Given the description of an element on the screen output the (x, y) to click on. 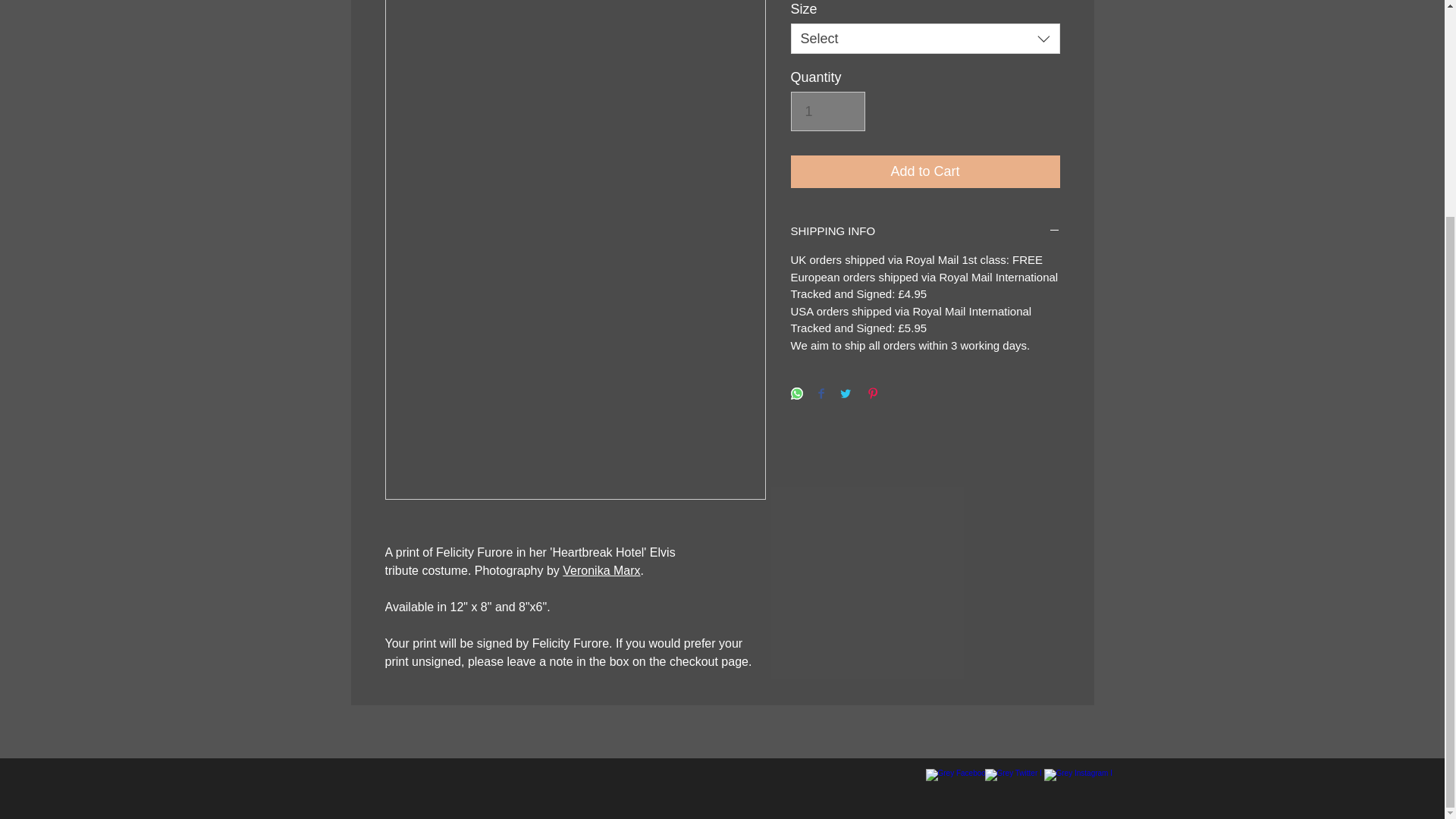
Select (924, 38)
Veronika Marx (601, 570)
1 (827, 111)
SHIPPING INFO (924, 231)
Add to Cart (924, 171)
